Given the description of an element on the screen output the (x, y) to click on. 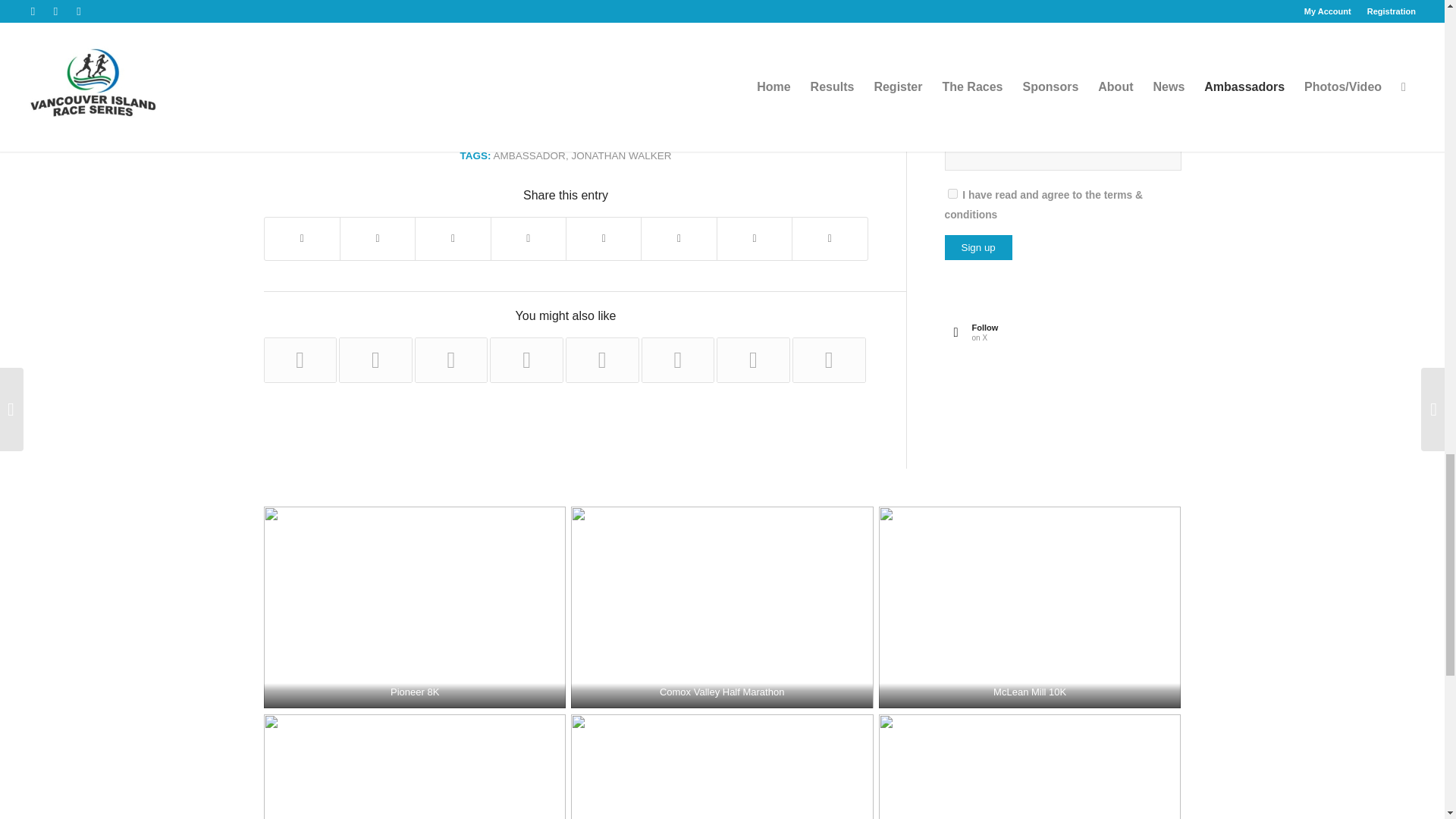
1 (952, 194)
Sign up (977, 247)
